Given the description of an element on the screen output the (x, y) to click on. 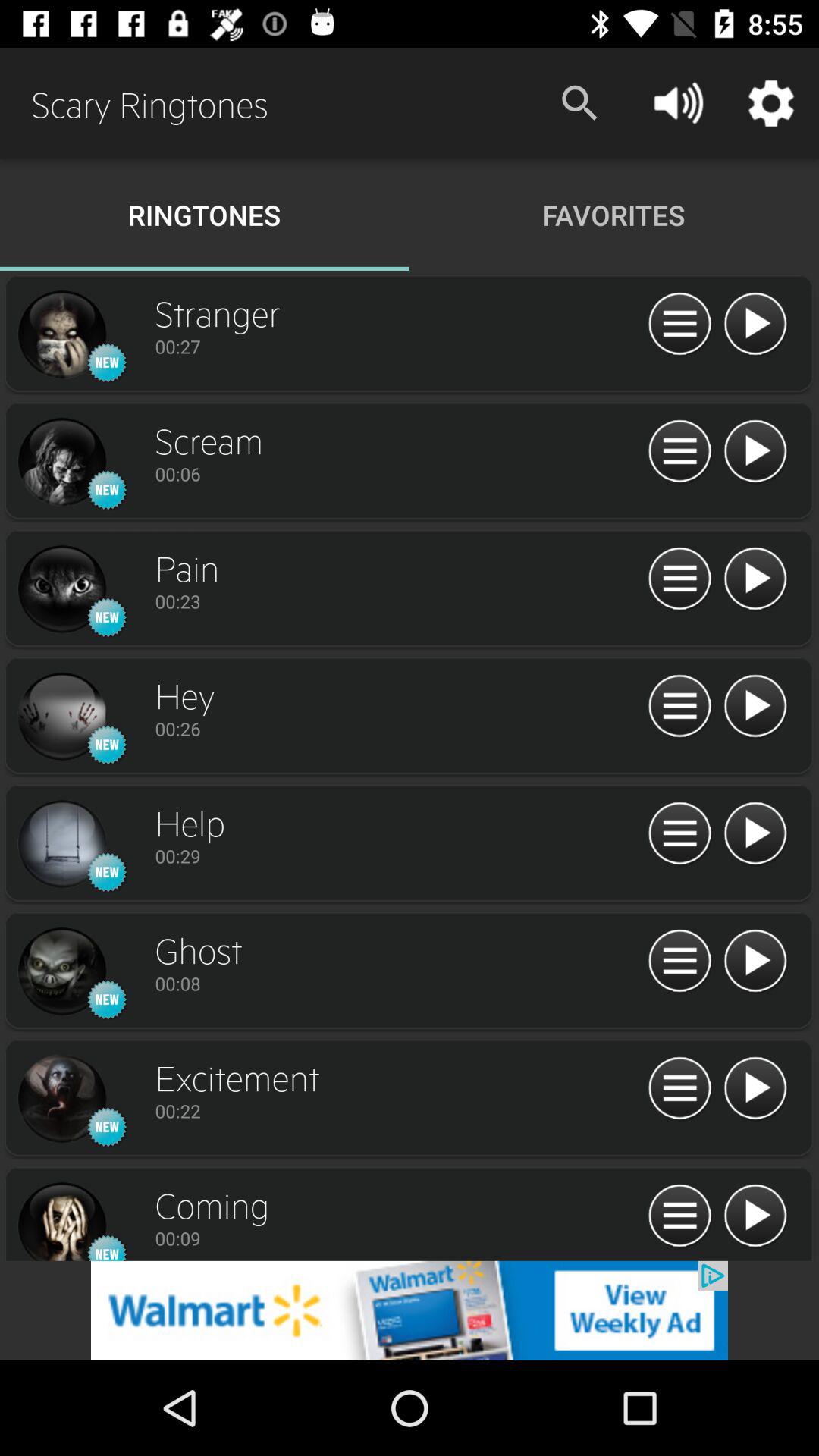
play (755, 1088)
